Given the description of an element on the screen output the (x, y) to click on. 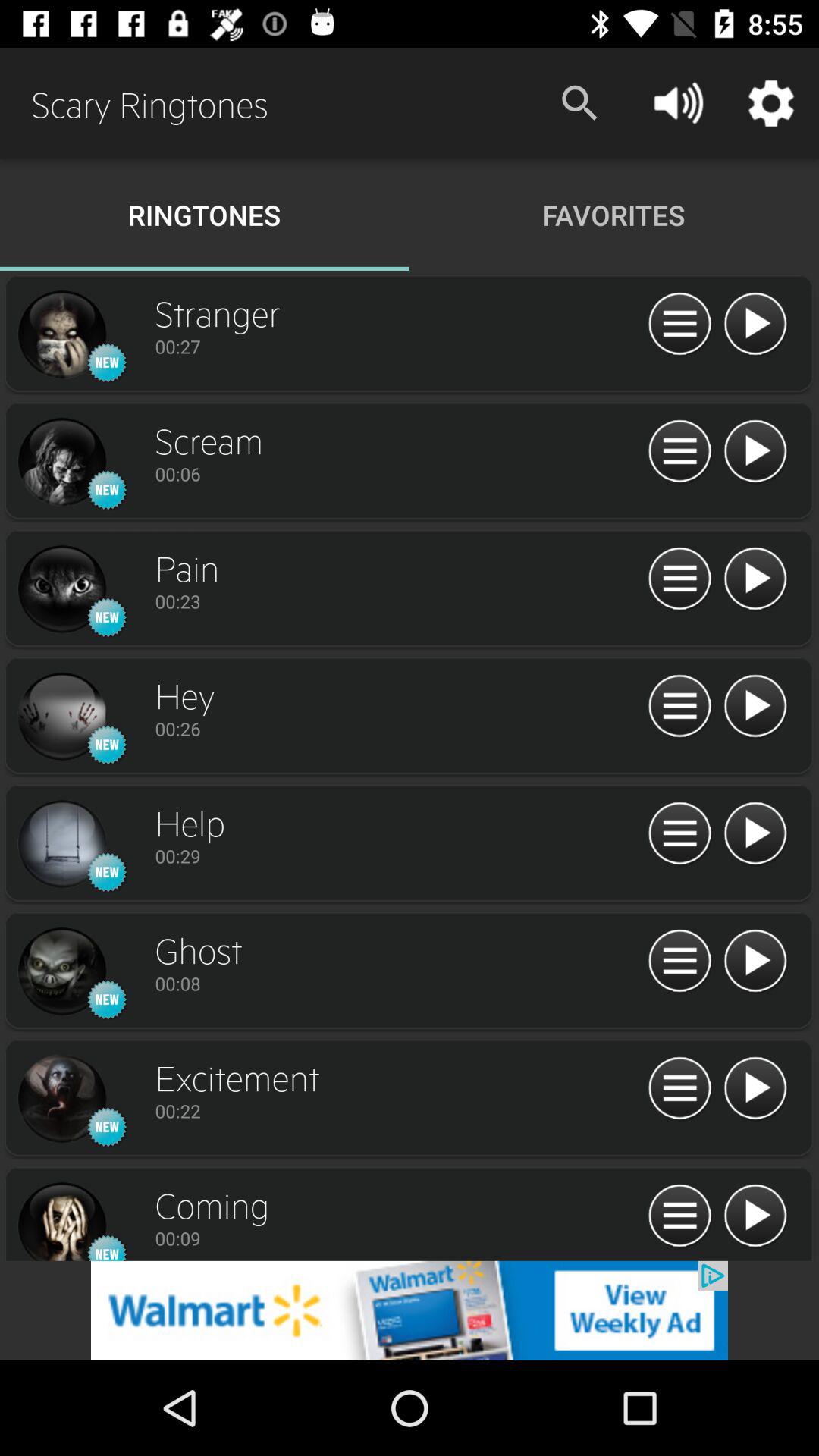
play (755, 1088)
